Given the description of an element on the screen output the (x, y) to click on. 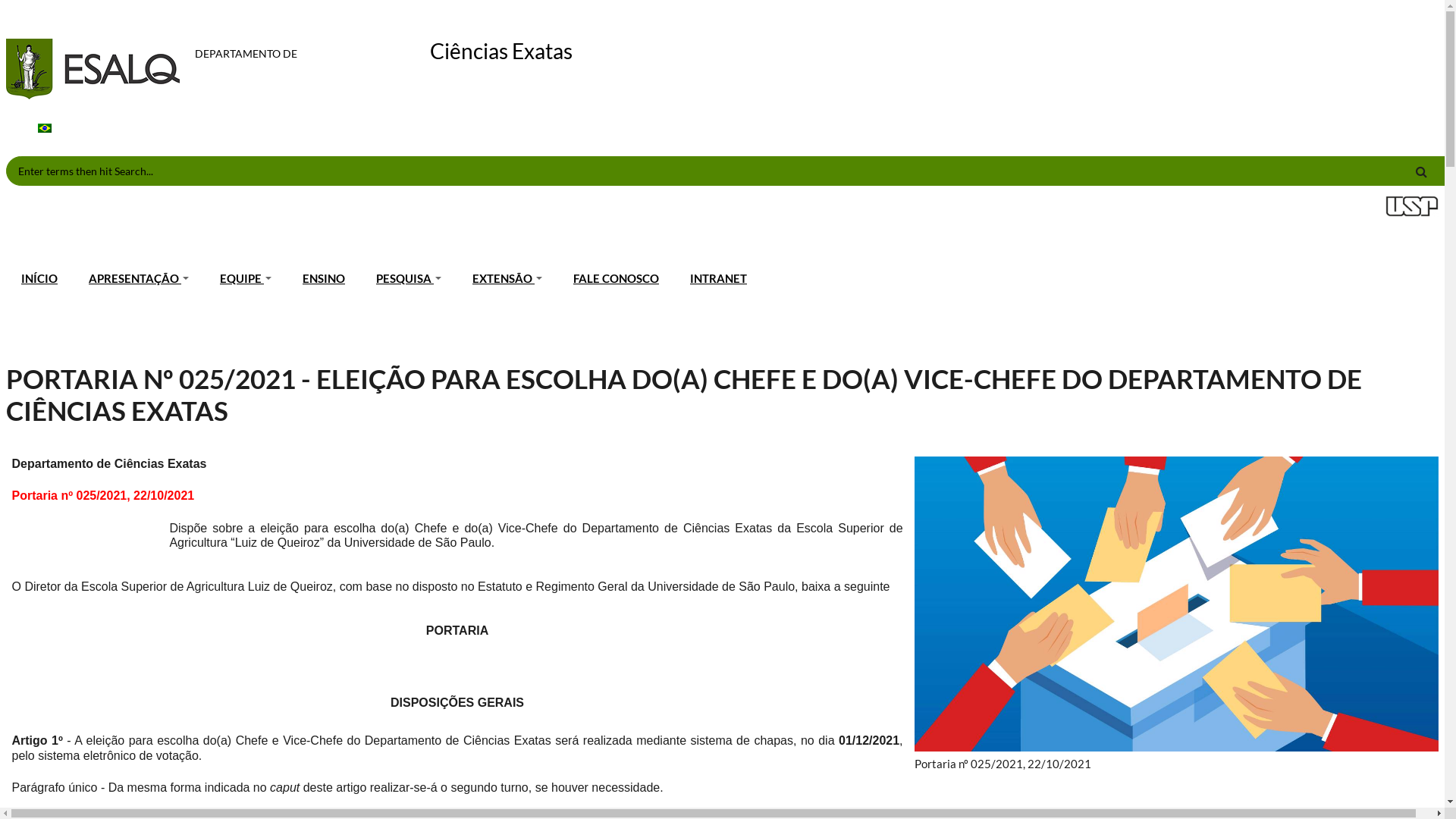
FALE CONOSCO Element type: text (616, 278)
PESQUISA Element type: text (408, 278)
ENSINO Element type: text (323, 278)
EQUIPE Element type: text (245, 278)
INTRANET Element type: text (718, 278)
